Given the description of an element on the screen output the (x, y) to click on. 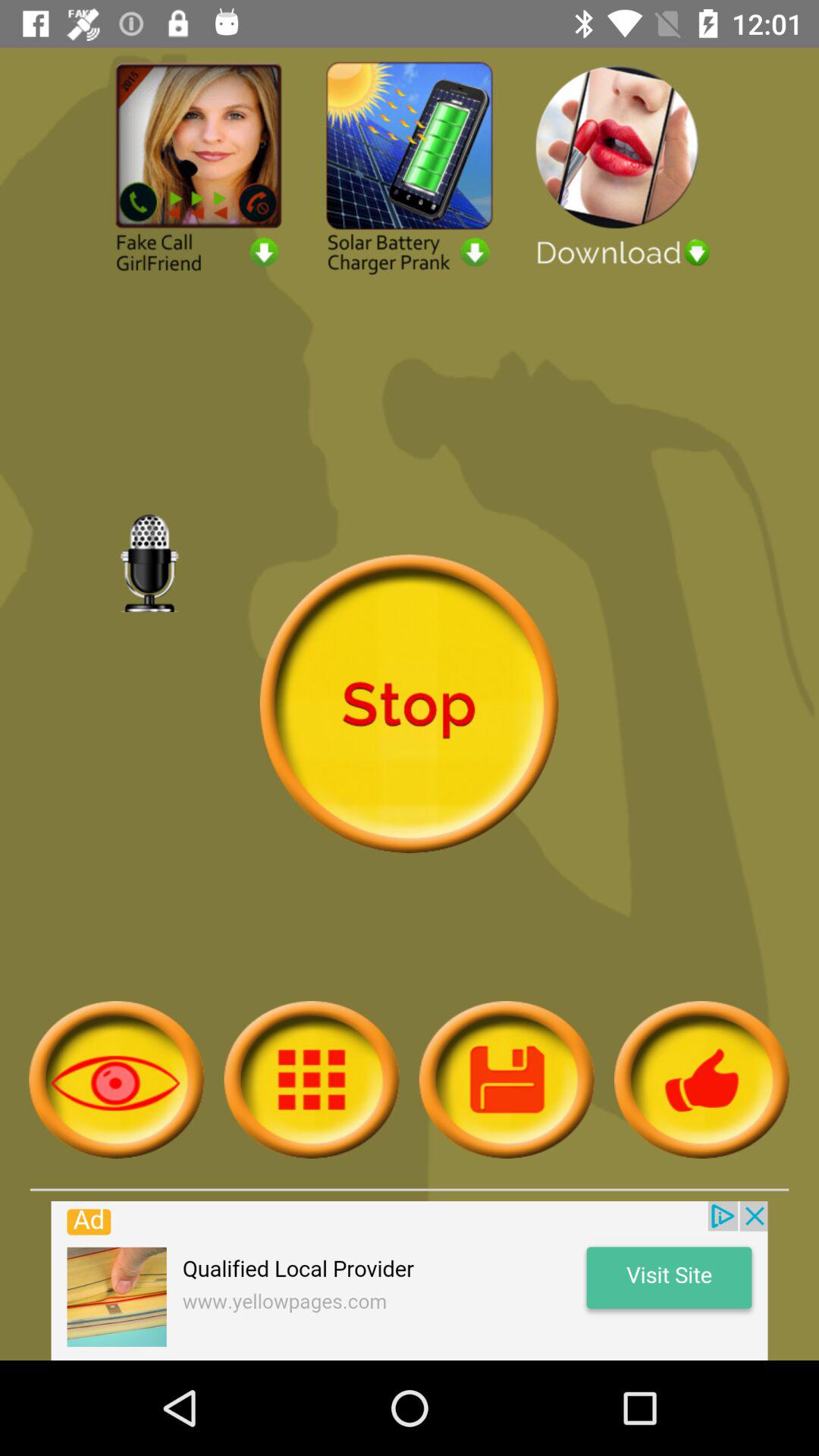
fake girlfriend calling (199, 166)
